Given the description of an element on the screen output the (x, y) to click on. 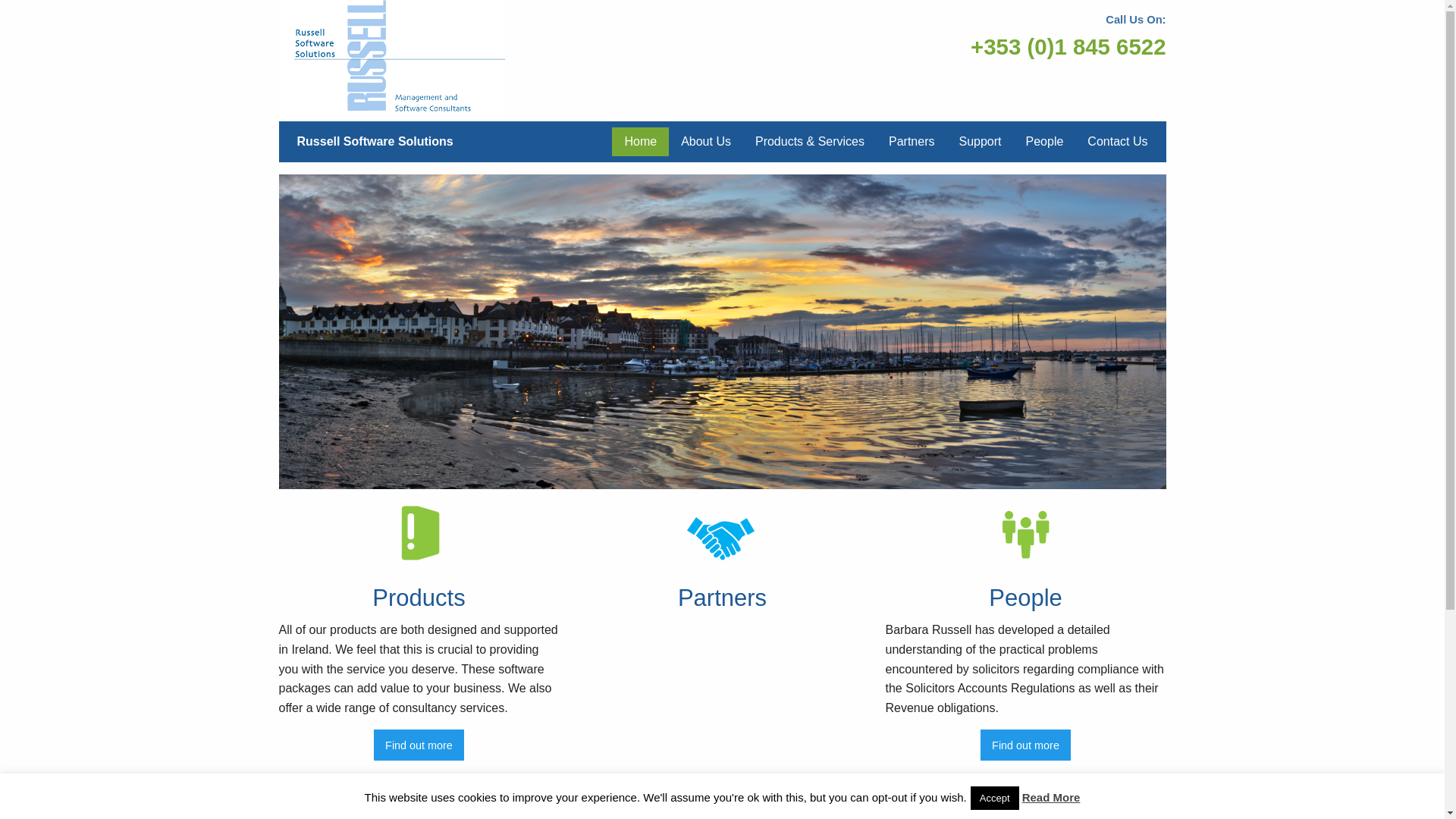
Home (639, 141)
Find out more (1025, 744)
Read More (1051, 797)
Support (979, 141)
Accept (995, 797)
Contact Us (1116, 141)
Partners (911, 141)
People (1044, 141)
Russell Software Solutions (374, 141)
Find out more (419, 744)
